Given the description of an element on the screen output the (x, y) to click on. 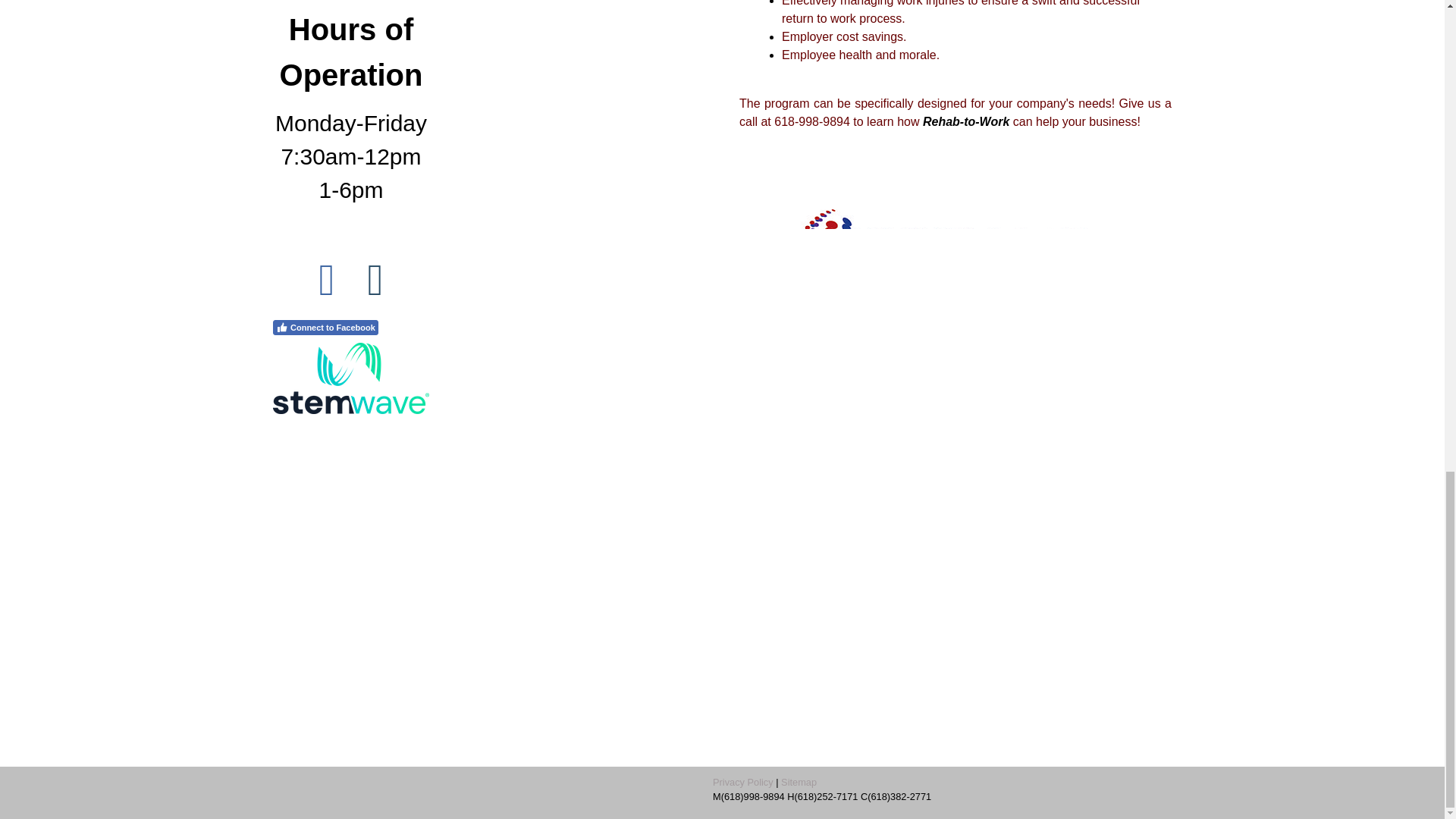
Privacy Policy (743, 781)
Connect to Facebook (325, 327)
Facebook (326, 280)
Email (375, 280)
Sitemap (798, 781)
